Given the description of an element on the screen output the (x, y) to click on. 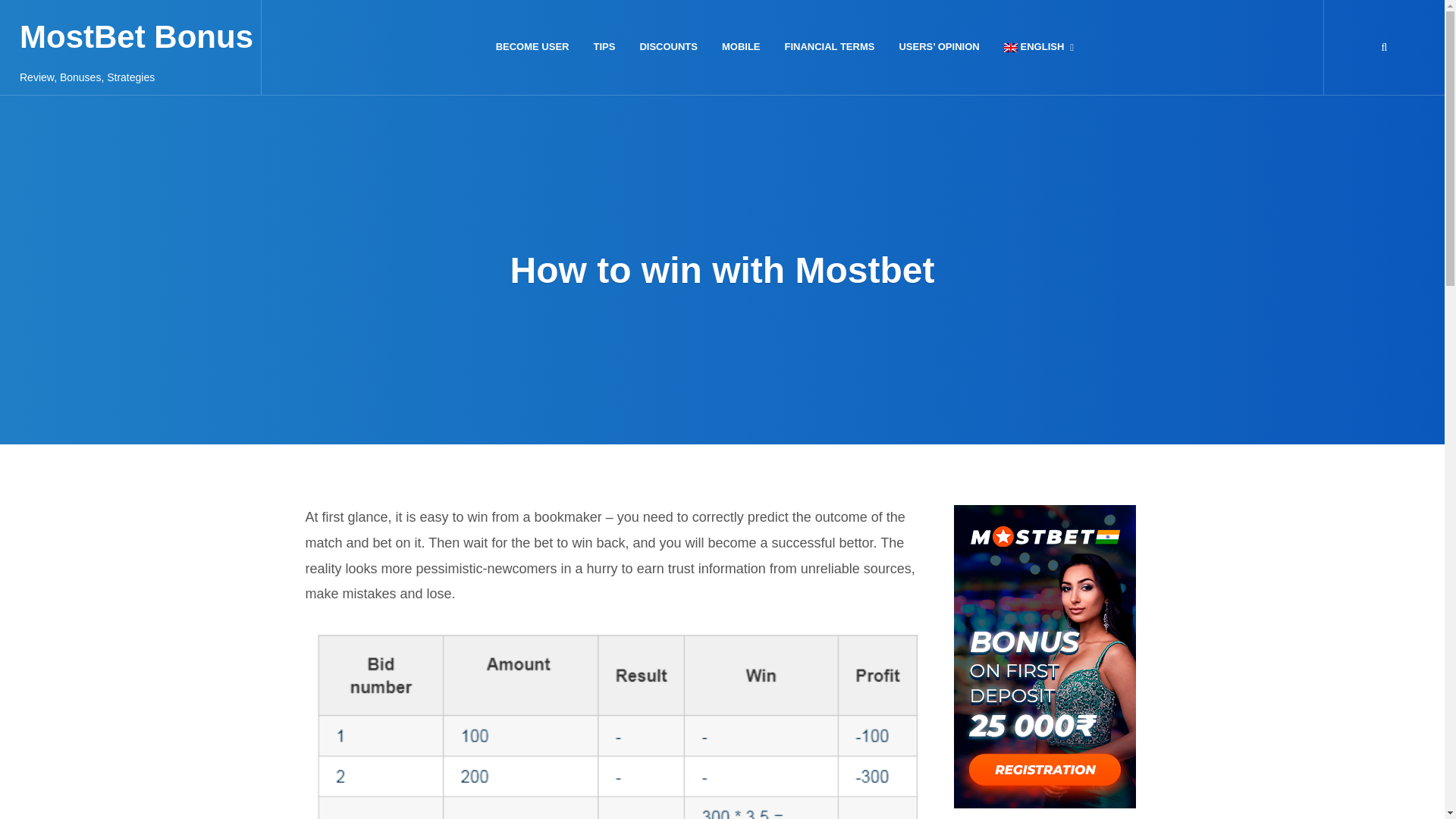
MostBet Bonus (136, 36)
FINANCIAL TERMS (828, 47)
ENGLISH (1040, 47)
English (1040, 47)
BECOME USER (531, 47)
MostBet Bonus (136, 36)
